Given the description of an element on the screen output the (x, y) to click on. 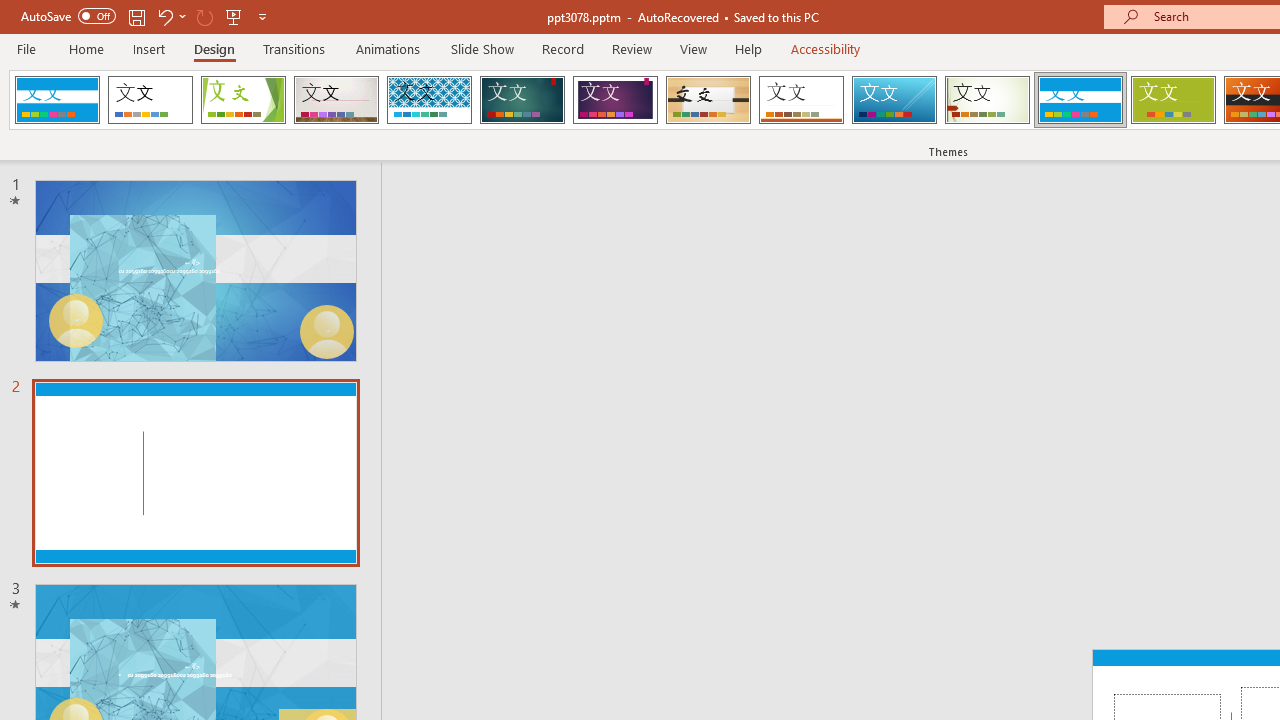
Slice (893, 100)
Facet (243, 100)
Dividend (57, 100)
Retrospect (801, 100)
